Given the description of an element on the screen output the (x, y) to click on. 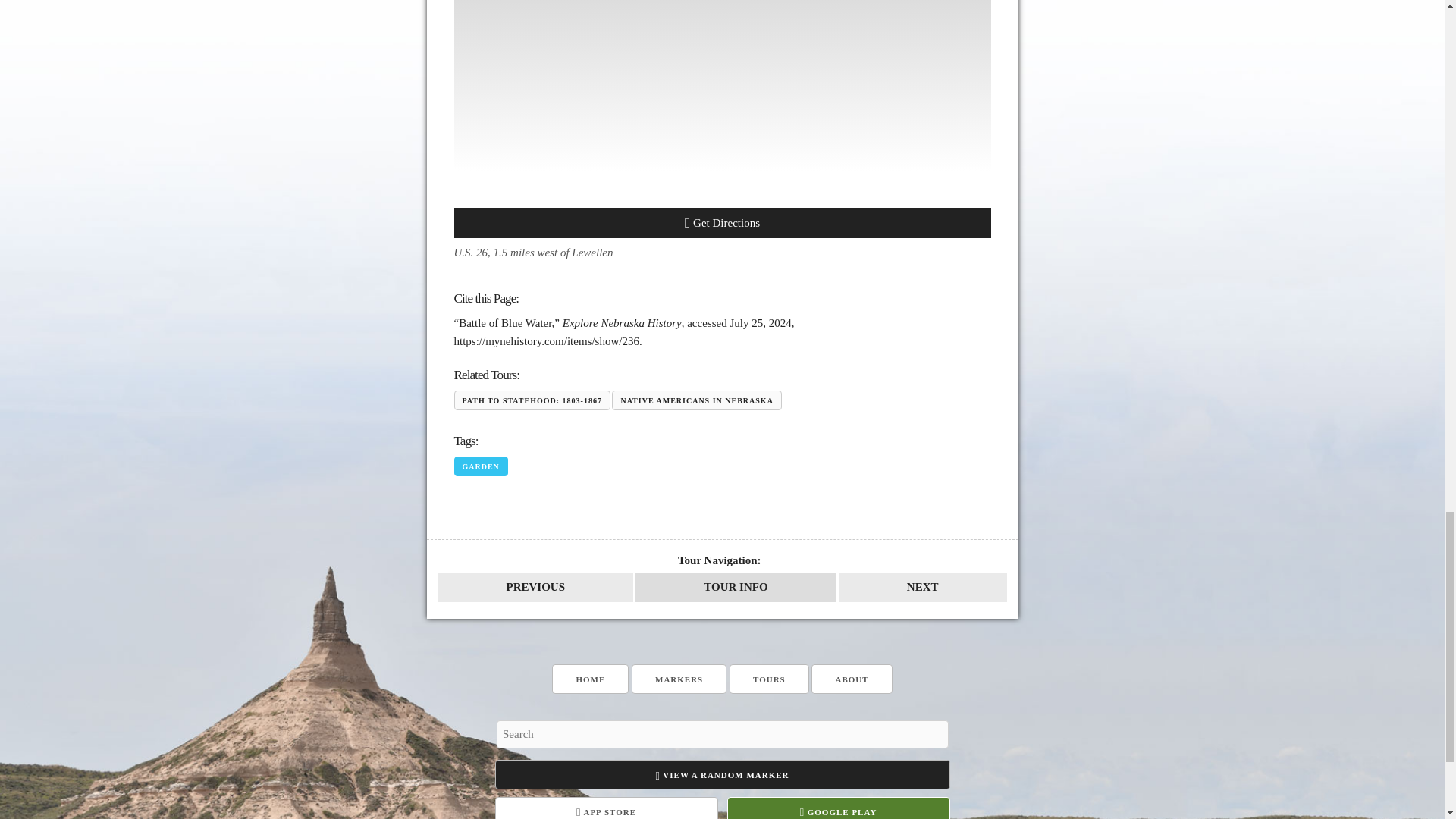
PREVIOUS (535, 586)
PATH TO STATEHOOD: 1803-1867 (531, 400)
MARKERS (678, 678)
View Tour: Native Americans in Nebraska (734, 586)
GOOGLE PLAY (837, 807)
TOURS (769, 678)
Get Directions on Google Maps (721, 223)
ABOUT (850, 678)
Next stop on Tour (922, 586)
NATIVE AMERICANS IN NEBRASKA (695, 400)
GARDEN (479, 465)
Previous stop on Tour (535, 586)
Get Directions (721, 223)
VIEW A RANDOM MARKER (722, 774)
APP STORE (606, 807)
